Given the description of an element on the screen output the (x, y) to click on. 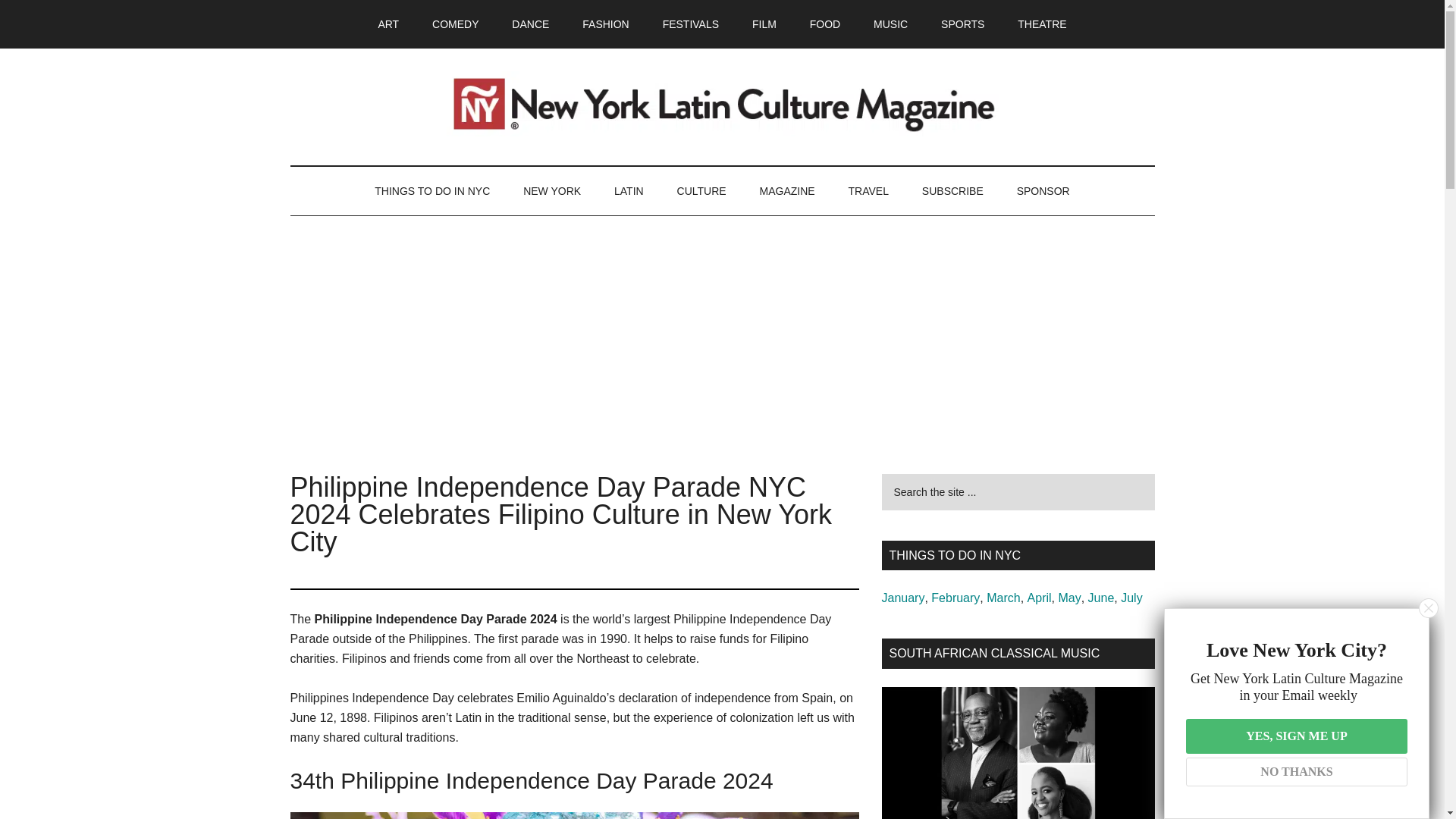
Latin Culture (701, 191)
January (902, 597)
Travel the Latin world! (868, 191)
March (1003, 597)
Latin New York City (551, 191)
Le Blog (786, 191)
Latin Comedy in New York City (454, 24)
SPONSOR (1042, 191)
FASHION (605, 24)
DANCE (530, 24)
Latin Dance in New York City (530, 24)
Latin Fashion in New York City (605, 24)
THEATRE (1042, 24)
FILM (764, 24)
